Given the description of an element on the screen output the (x, y) to click on. 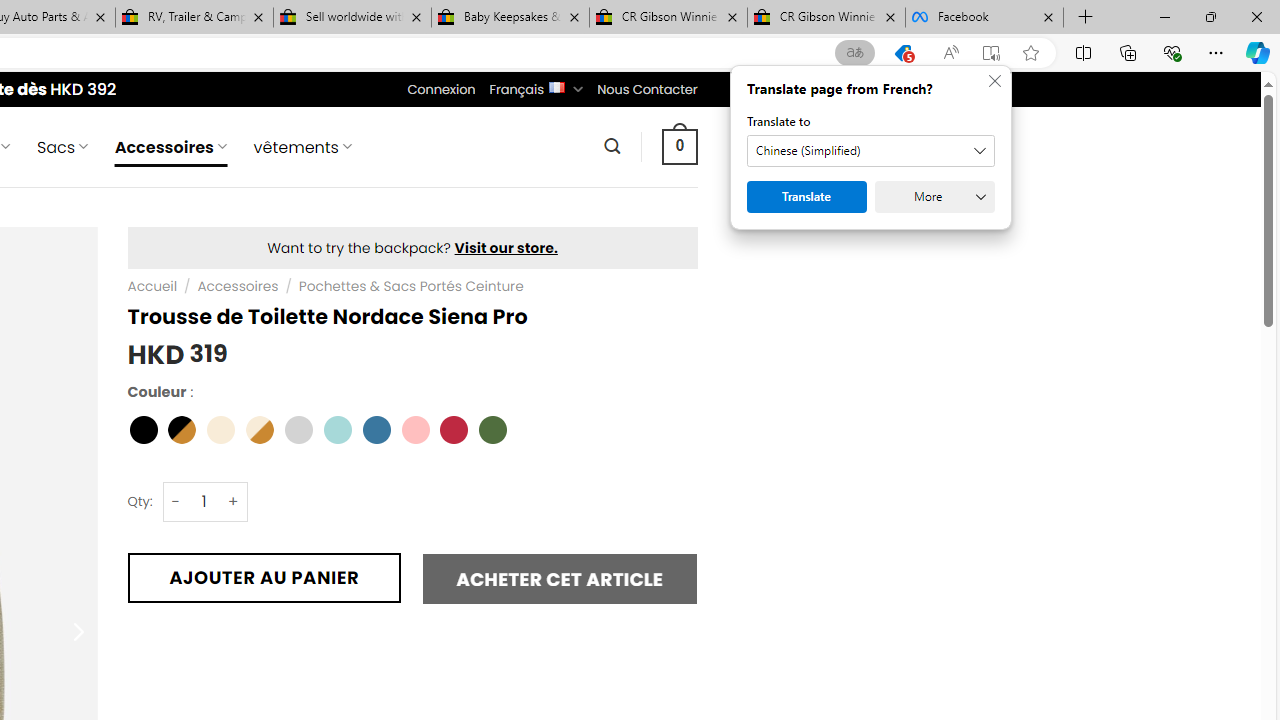
  0   (679, 146)
- (175, 501)
Connexion (441, 89)
